Given the description of an element on the screen output the (x, y) to click on. 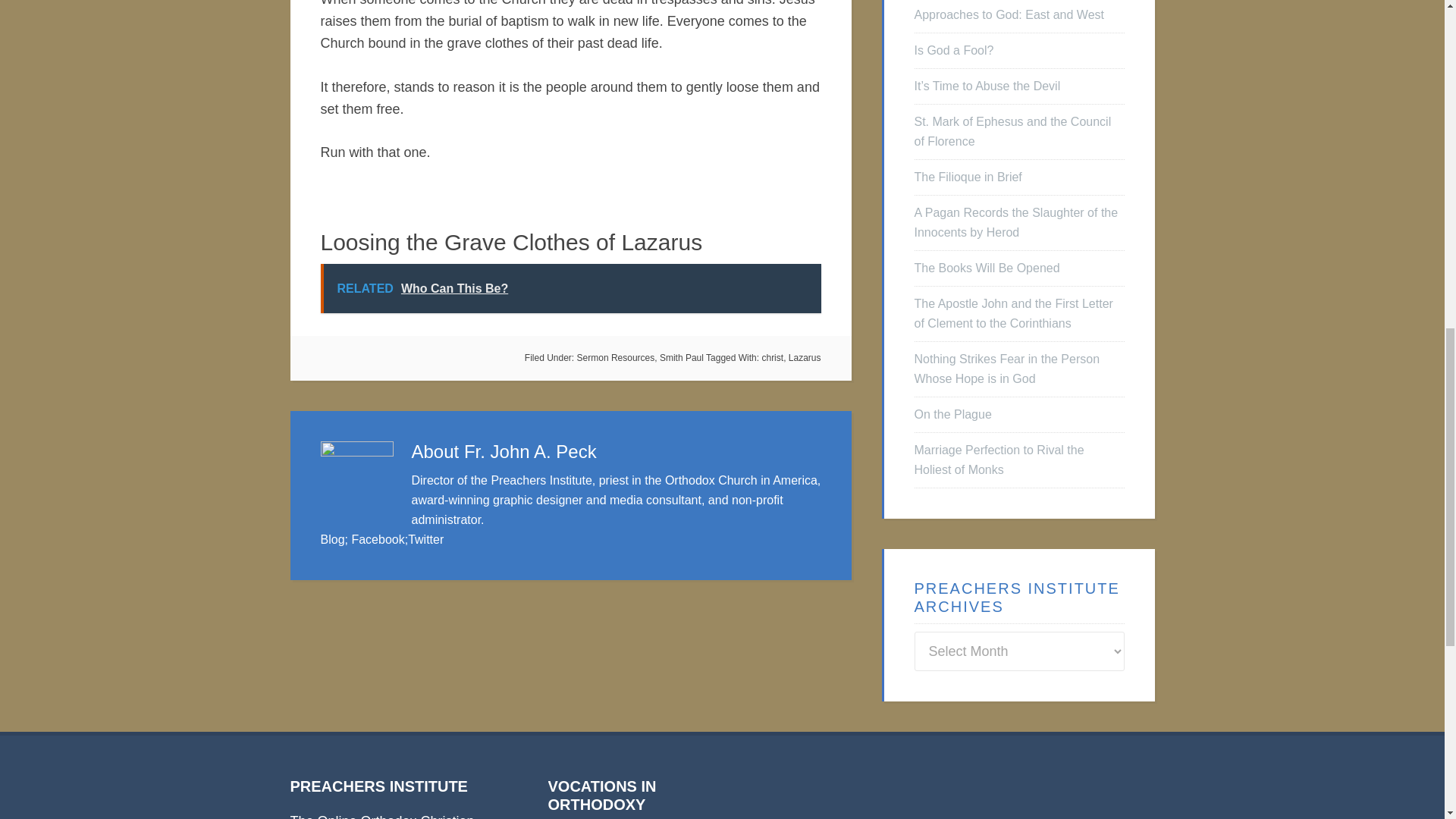
RELATED  Who Can This Be? (570, 287)
Sermon Resources (615, 357)
Smith Paul (681, 357)
